Given the description of an element on the screen output the (x, y) to click on. 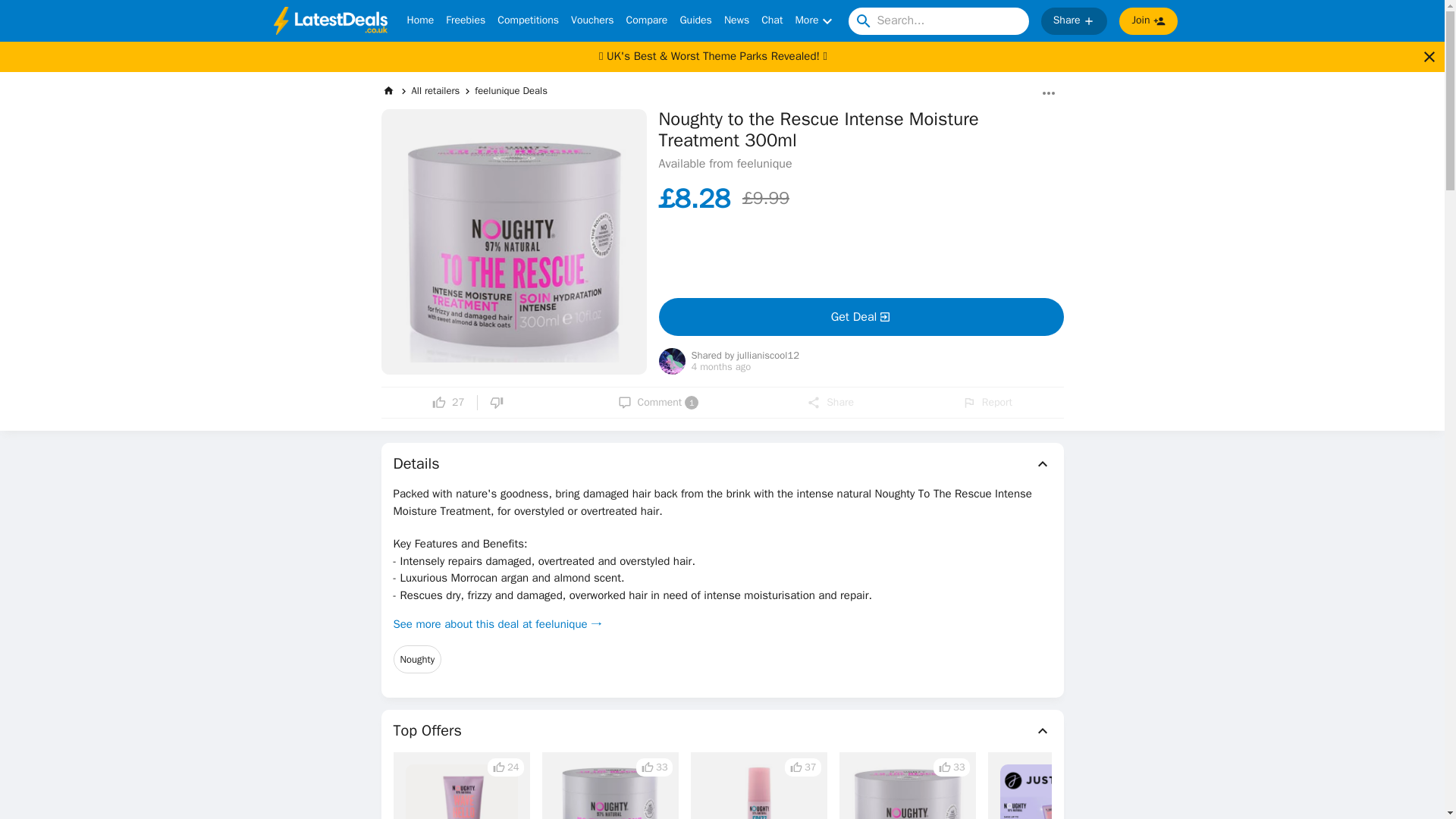
More (814, 21)
Competitions (528, 21)
Freebies (464, 21)
27 (448, 402)
Guides (695, 21)
Vouchers (591, 21)
Join (1147, 21)
All retailers (435, 90)
Noughty (417, 659)
Get Deal (860, 316)
